Given the description of an element on the screen output the (x, y) to click on. 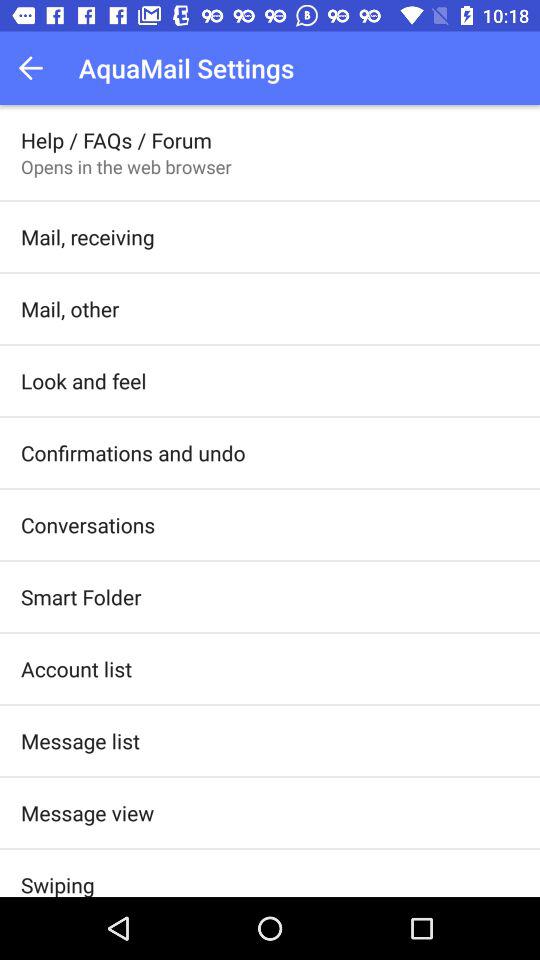
turn on the app above the help / faqs / forum icon (36, 68)
